Given the description of an element on the screen output the (x, y) to click on. 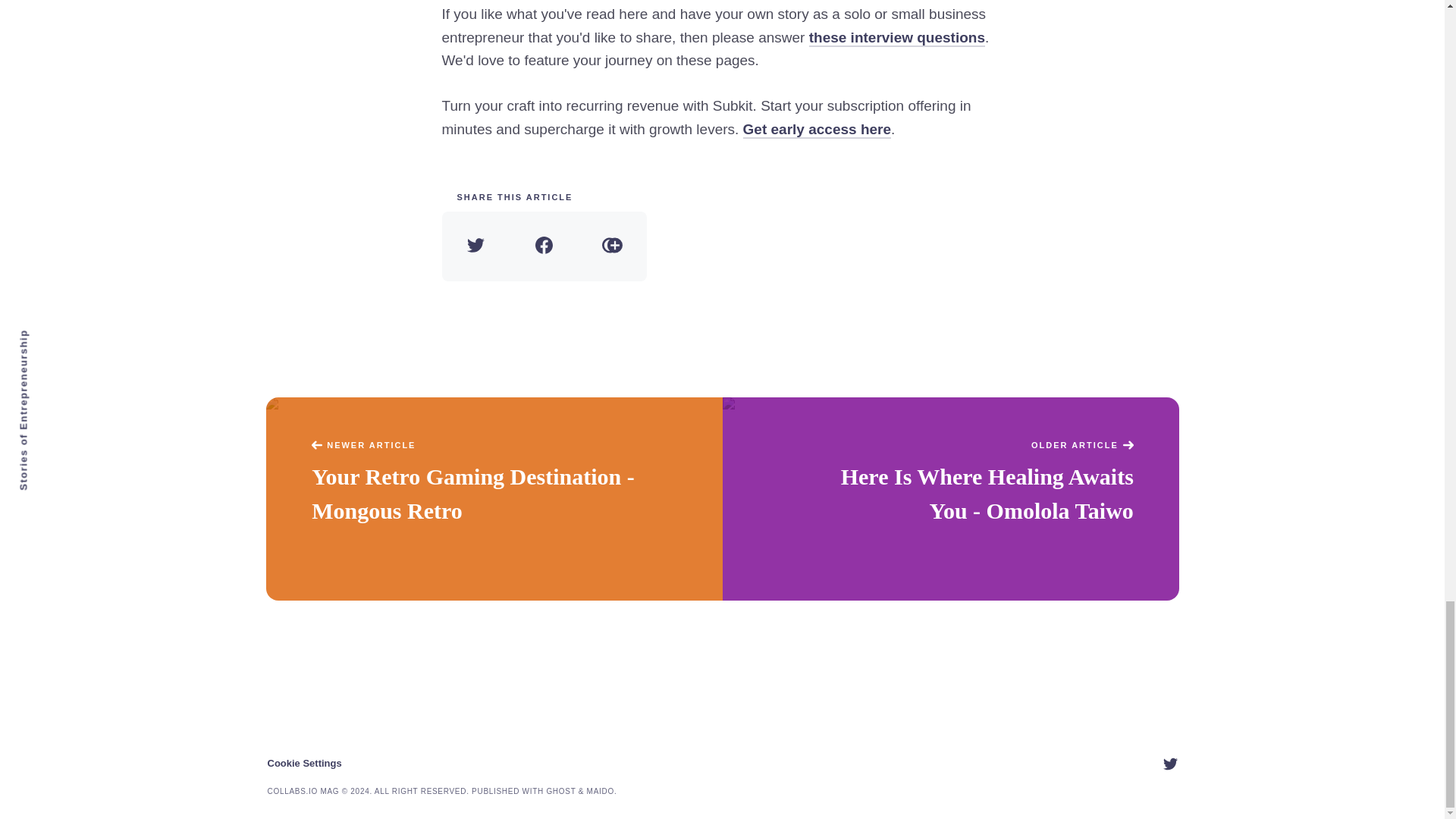
these interview questions (897, 37)
COLLABS.IO MAG (302, 791)
Cookie Settings (303, 763)
GHOST (560, 791)
Get early access here (816, 129)
MAIDO (600, 791)
